Given the description of an element on the screen output the (x, y) to click on. 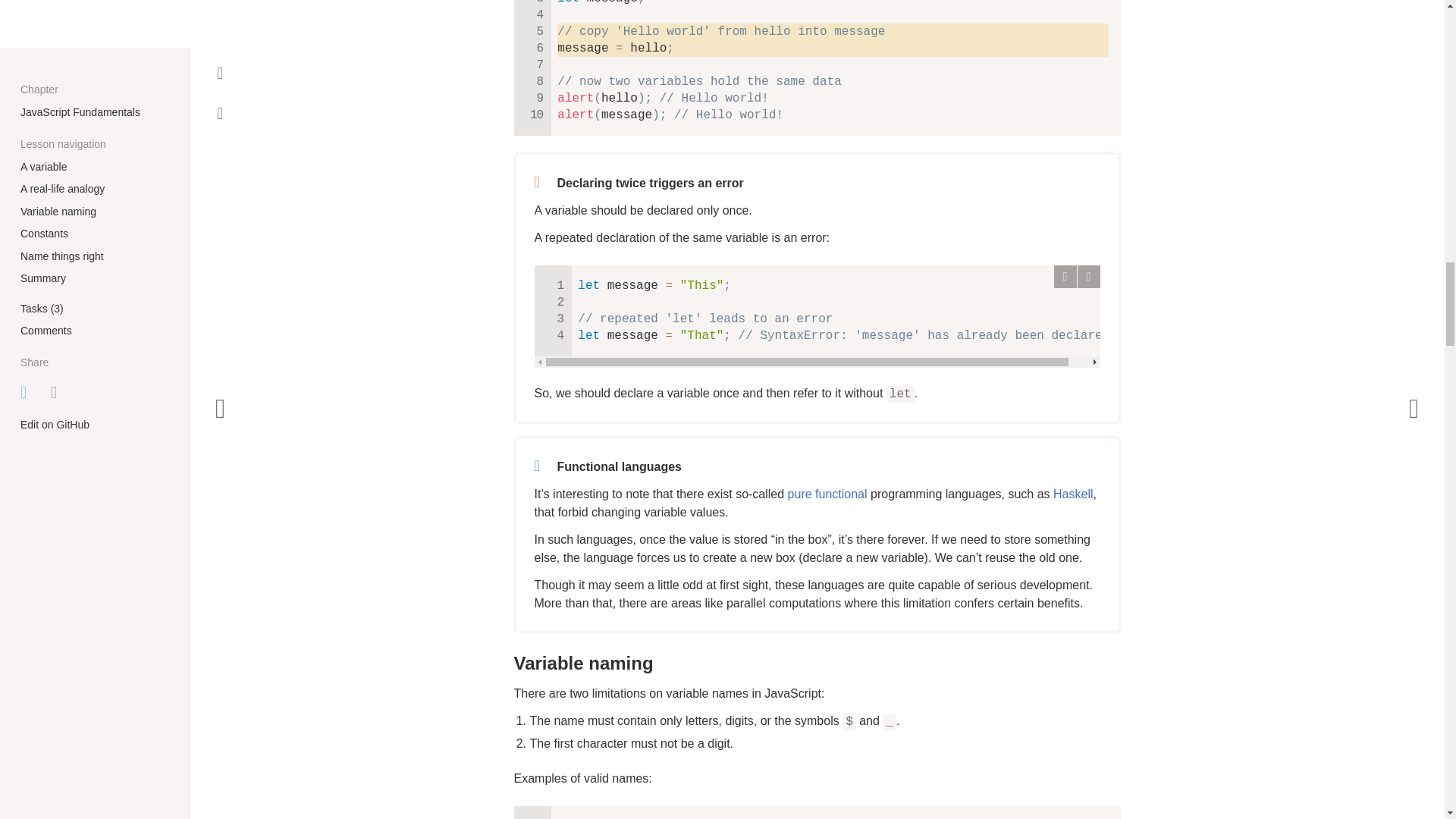
run (1065, 276)
open in sandbox (1088, 276)
